Given the description of an element on the screen output the (x, y) to click on. 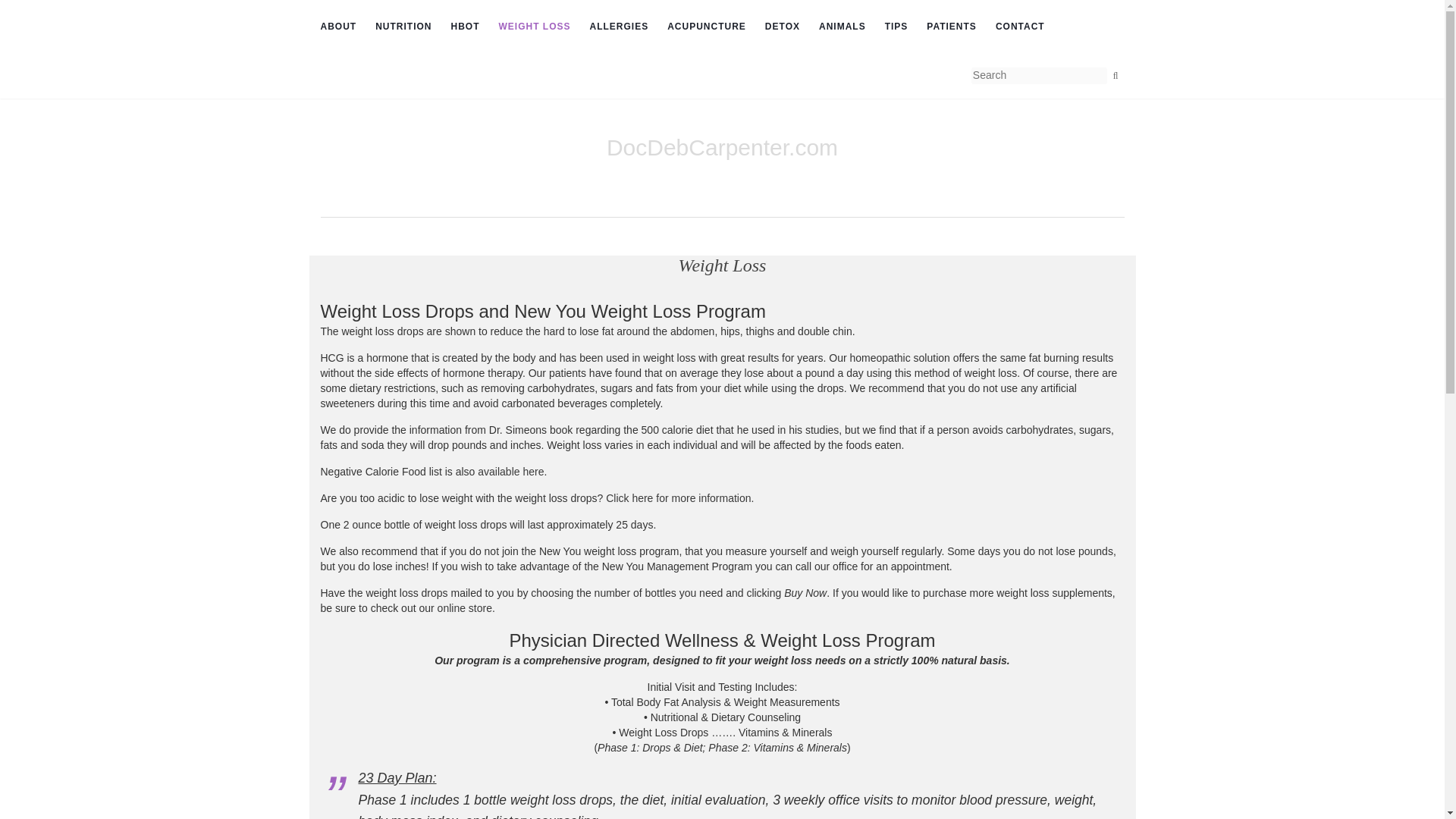
Contact (1020, 27)
Nutrition (402, 27)
online store (465, 607)
Click here for more information. (679, 498)
NUTRITION (402, 27)
Weight Loss (534, 27)
Allergies (619, 27)
available here (510, 471)
DocDebCarpenter.com (722, 147)
Patients (951, 27)
ACUPUNCTURE (705, 27)
CONTACT (1020, 27)
Acupuncture (705, 27)
PATIENTS (951, 27)
DocDebCarpenter.com (722, 147)
